Given the description of an element on the screen output the (x, y) to click on. 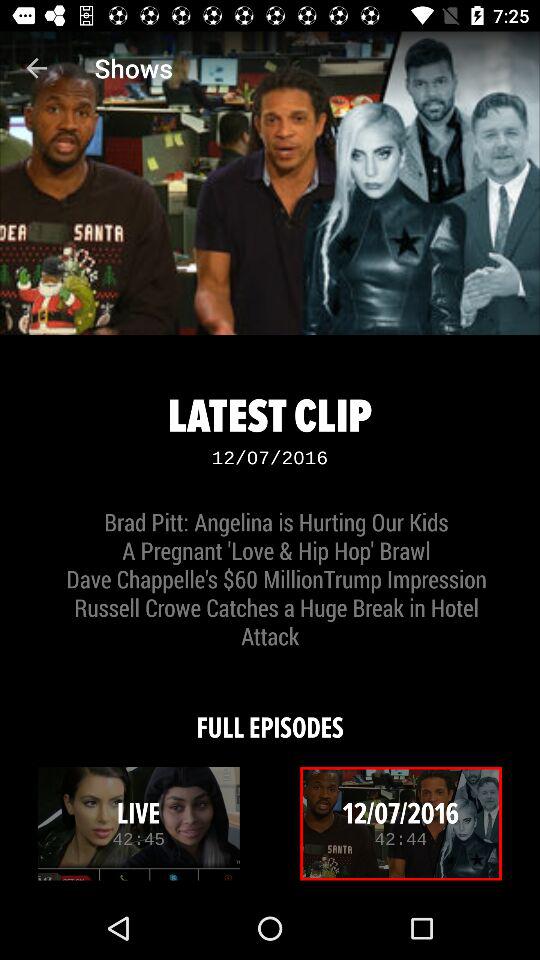
tap the item next to the shows icon (36, 68)
